Given the description of an element on the screen output the (x, y) to click on. 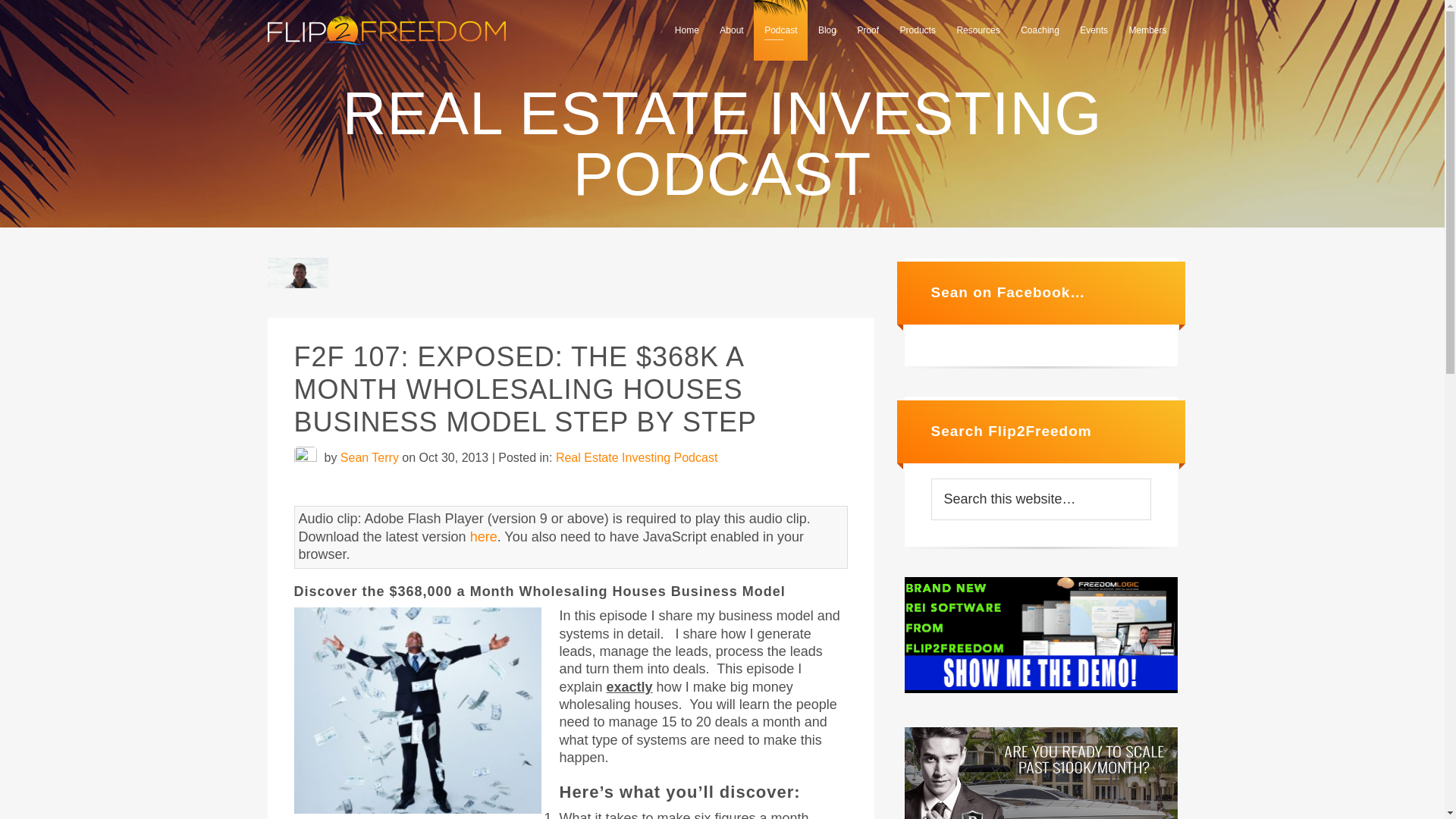
Sean Terry (369, 457)
Real Estate Investing Podcast (636, 457)
Members (1147, 30)
Download Adobe Flash Player (483, 536)
here (483, 536)
Coaching (1040, 30)
Resources (977, 30)
Products (917, 30)
